Given the description of an element on the screen output the (x, y) to click on. 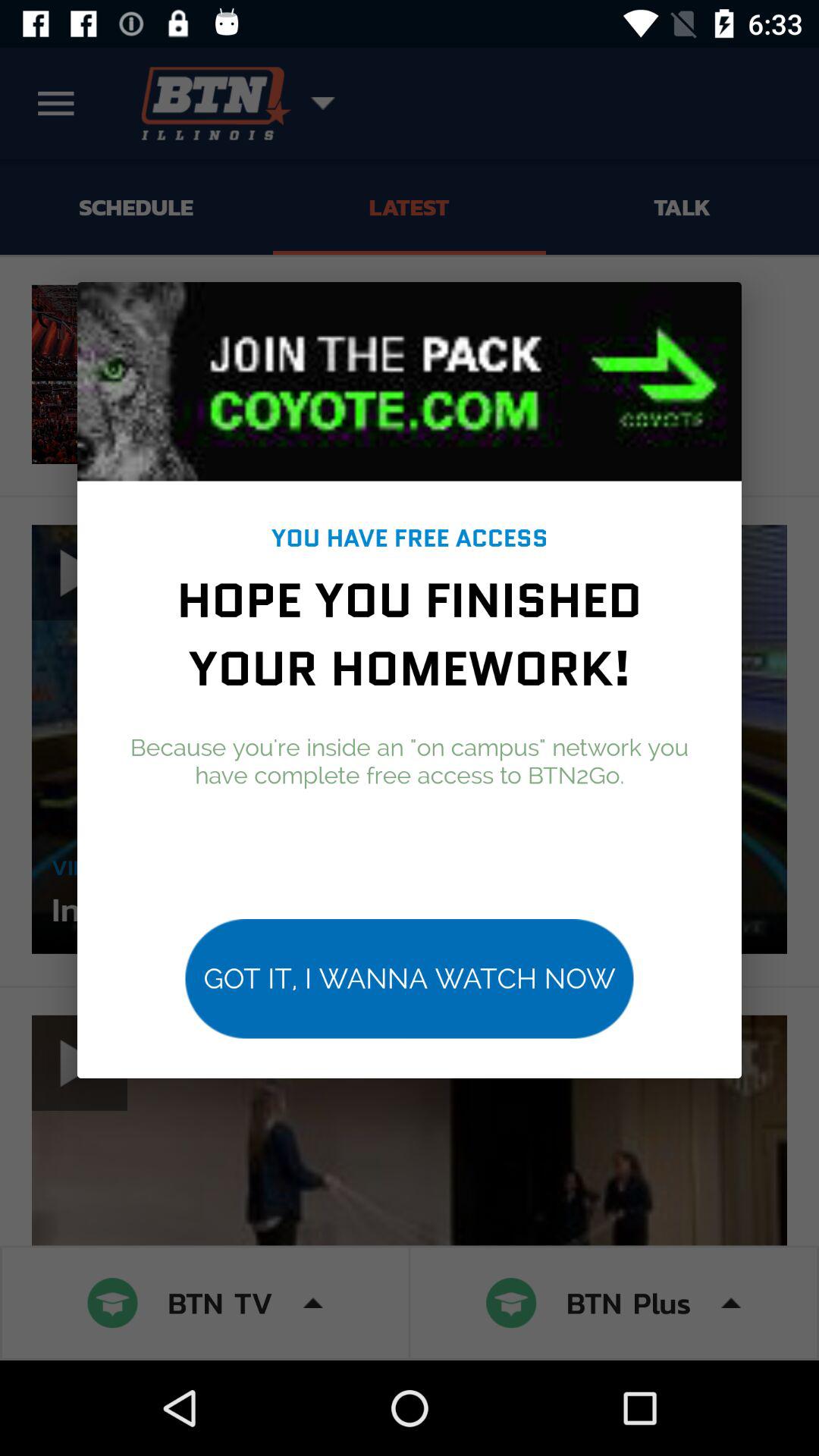
select icon at the bottom (409, 978)
